Given the description of an element on the screen output the (x, y) to click on. 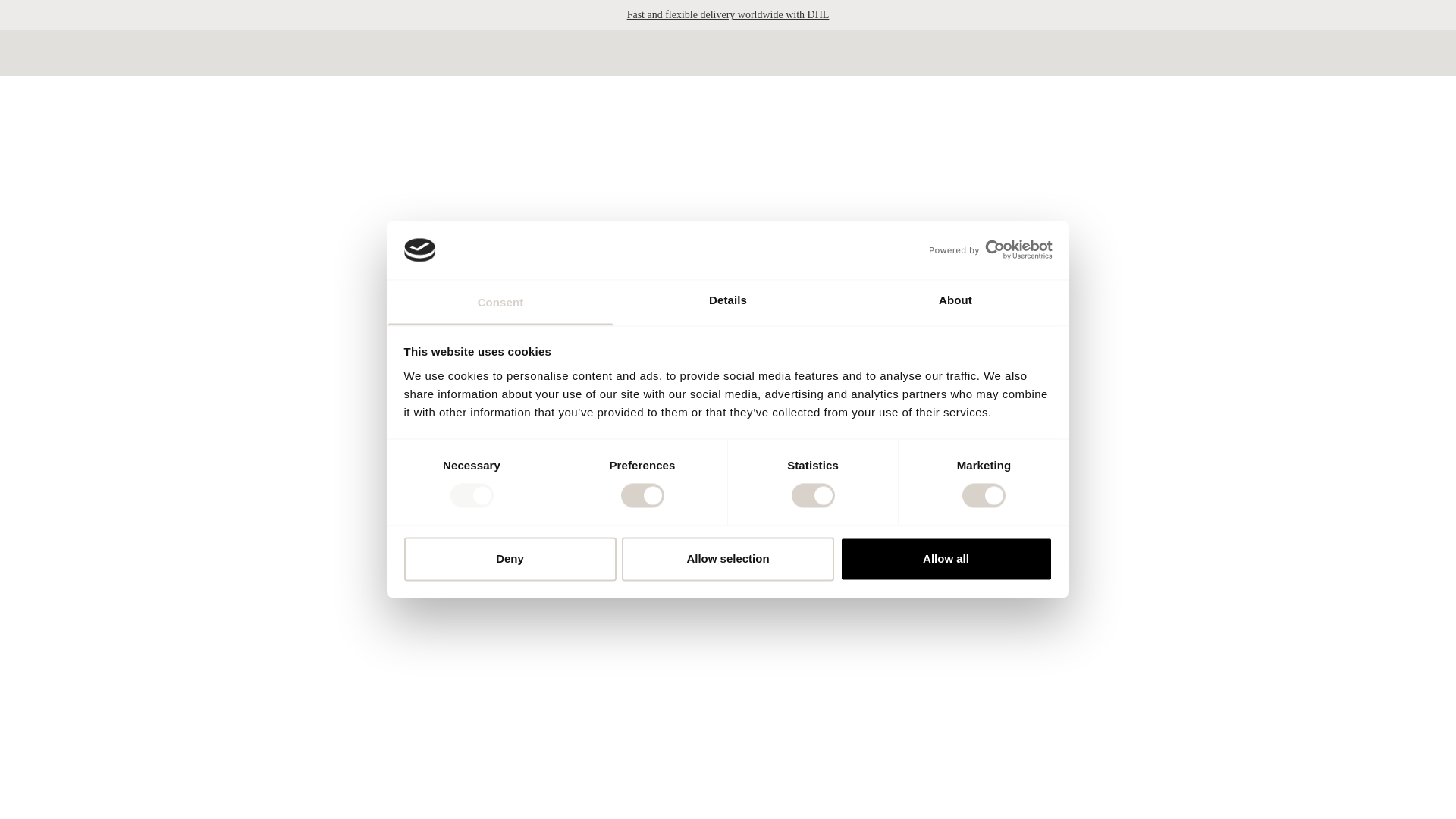
About (954, 302)
Consent (500, 302)
Details (727, 302)
